Given the description of an element on the screen output the (x, y) to click on. 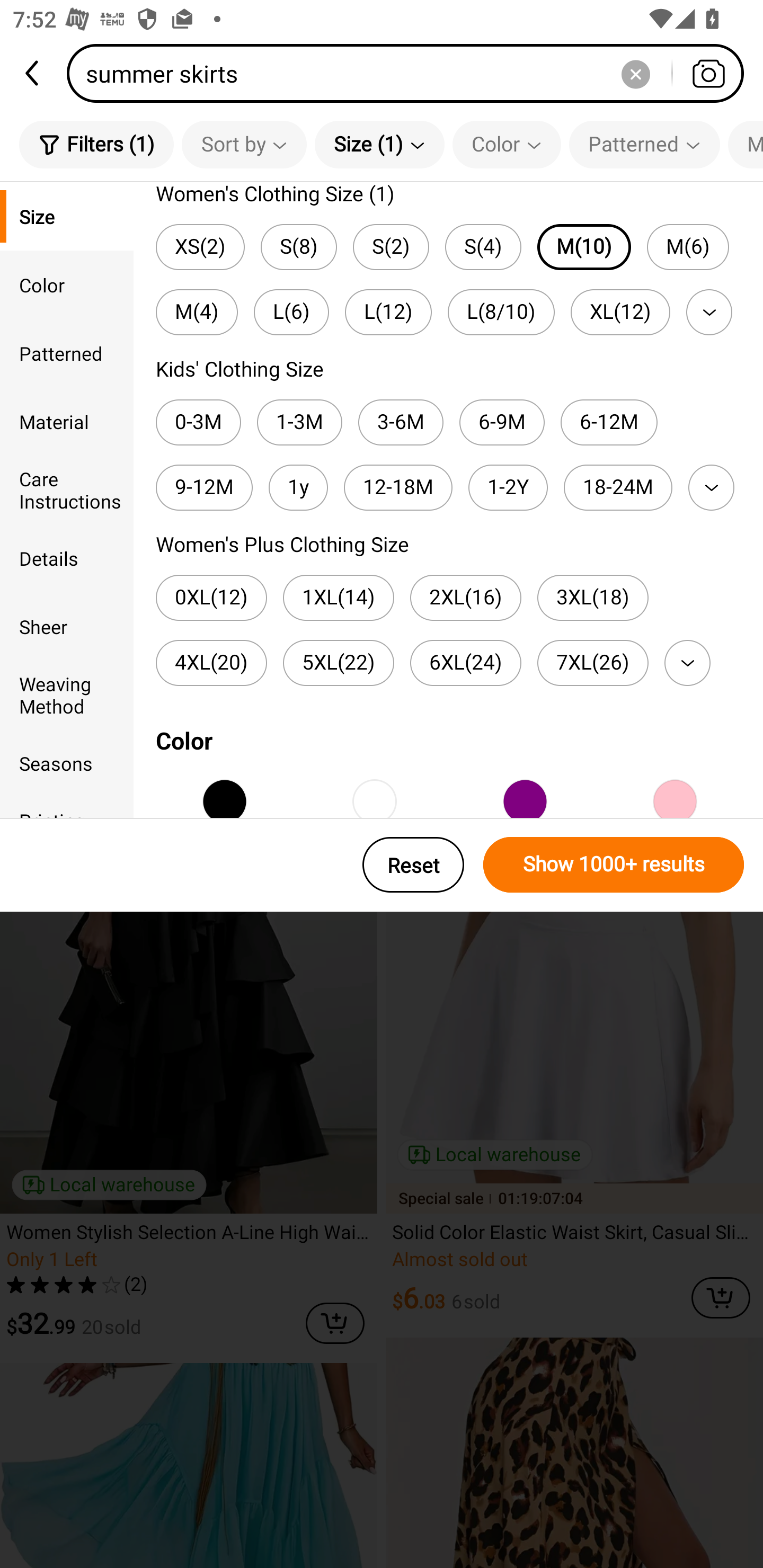
back (33, 72)
summer skirts (411, 73)
Delete search history (635, 73)
Search by photo (708, 73)
Filters (1) (96, 143)
Sort by (243, 143)
Size (1) (379, 143)
Color (506, 143)
Patterned (644, 143)
Size (66, 215)
XS(2) (199, 246)
S(8) (298, 246)
S(2) (390, 246)
S(4) (482, 246)
M(10) (584, 246)
M(6) (688, 246)
Color (66, 284)
M(4) (196, 311)
L(6) (291, 311)
L(12) (387, 311)
L(8/10) (500, 311)
XL(12) (619, 311)
More (708, 311)
Patterned (66, 352)
Material (66, 421)
0-3M (198, 422)
1-3M (299, 422)
3-6M (400, 422)
6-9M (501, 422)
6-12M (608, 422)
Care Instructions (66, 489)
9-12M (203, 487)
1y (298, 487)
12-18M (398, 487)
1-2Y (507, 487)
18-24M (617, 487)
More (711, 487)
Details (66, 557)
0XL(12) (211, 597)
1XL(14) (338, 597)
2XL(16) (465, 597)
3XL(18) (592, 597)
Sheer (66, 626)
4XL(20) (211, 662)
5XL(22) (338, 662)
6XL(24) (465, 662)
7XL(26) (592, 662)
More (687, 662)
Weaving Method (66, 694)
Seasons (66, 762)
Reset (412, 864)
Show 1000+ results (612, 864)
